Given the description of an element on the screen output the (x, y) to click on. 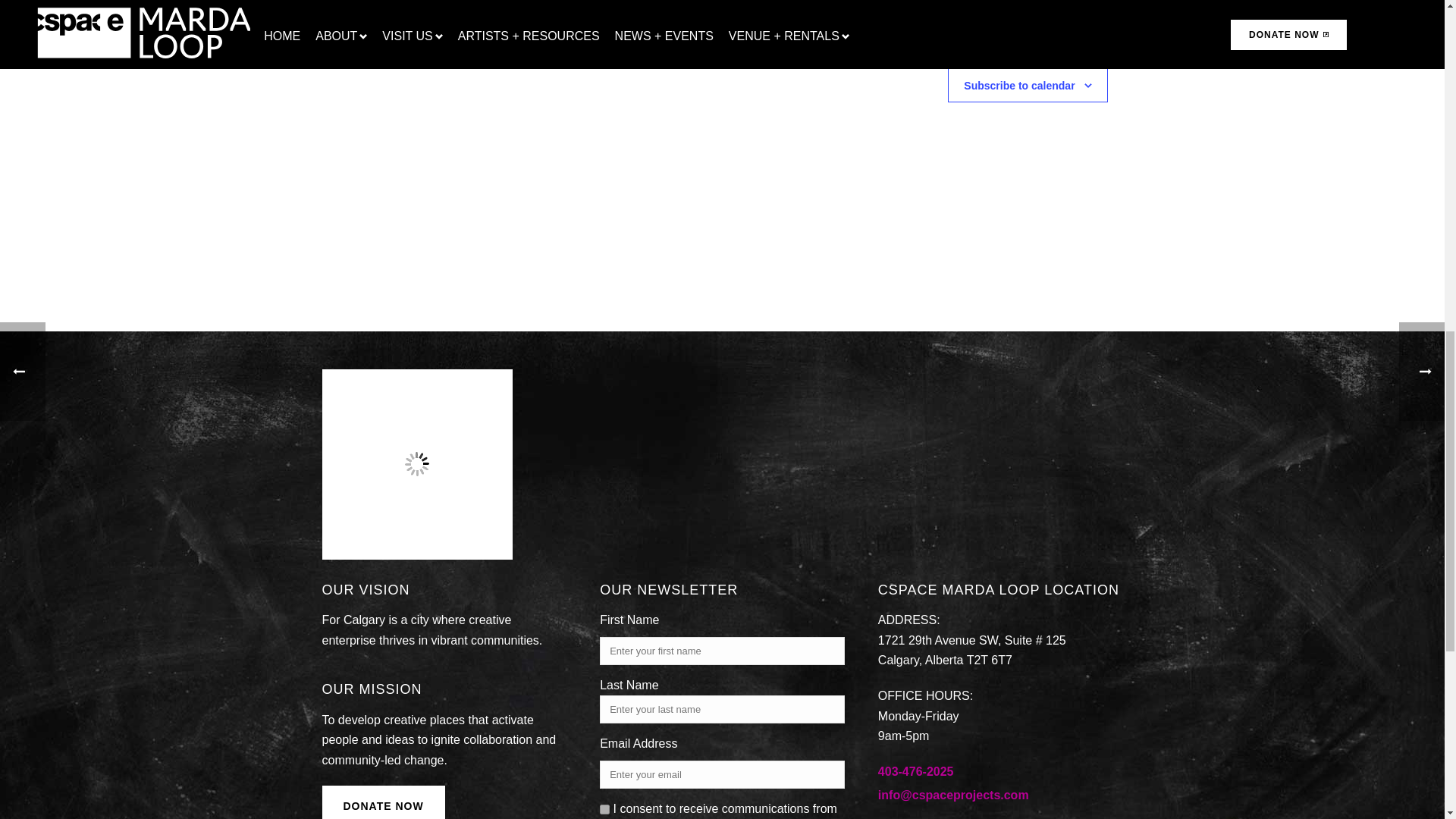
1 (604, 809)
